Given the description of an element on the screen output the (x, y) to click on. 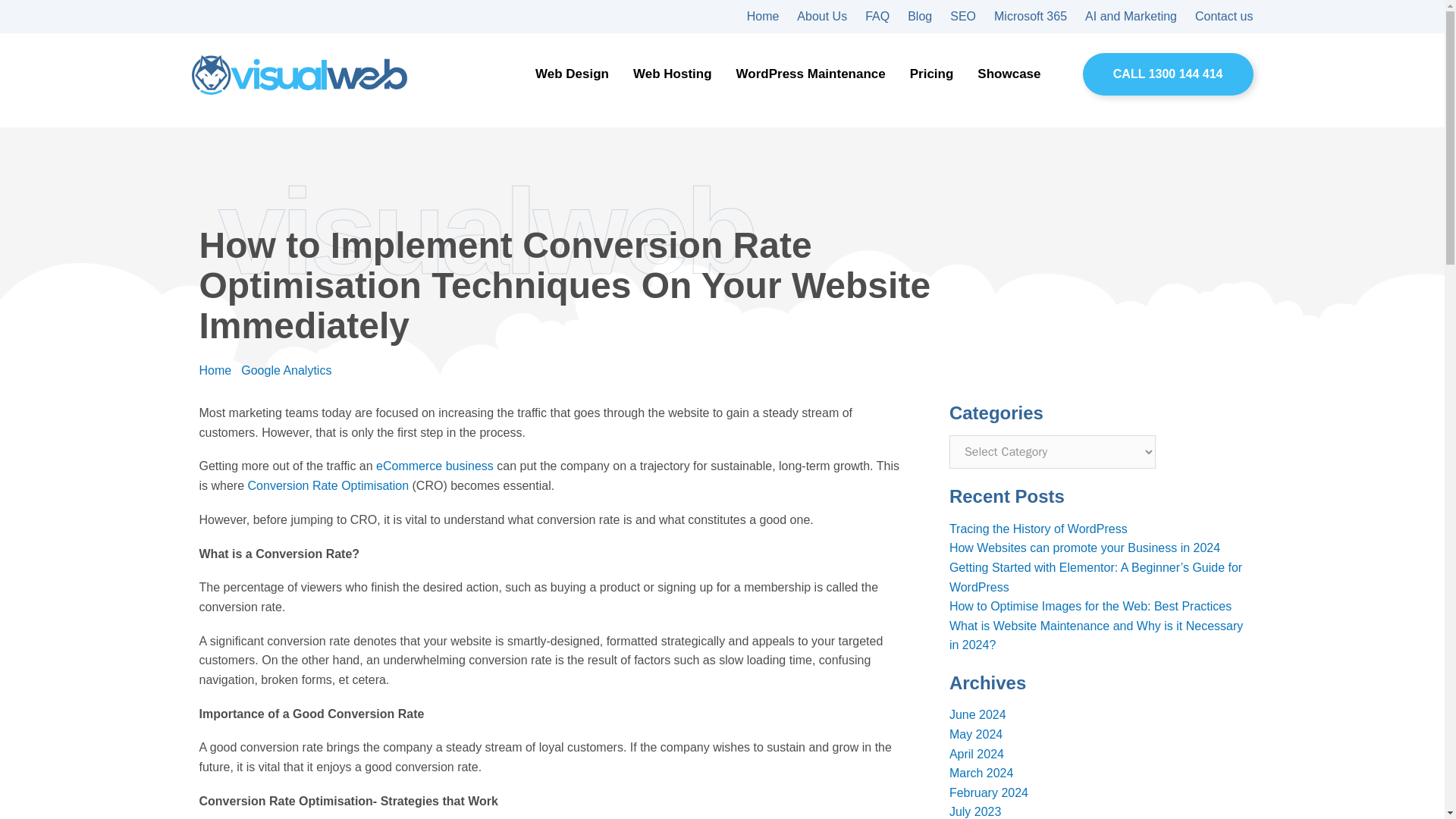
About Us (821, 16)
WordPress Maintenance (810, 73)
Contact us (1223, 16)
Web Hosting (672, 73)
Microsoft 365 (1030, 16)
AI and Marketing (1130, 16)
Home (762, 16)
Web Design (571, 73)
